Given the description of an element on the screen output the (x, y) to click on. 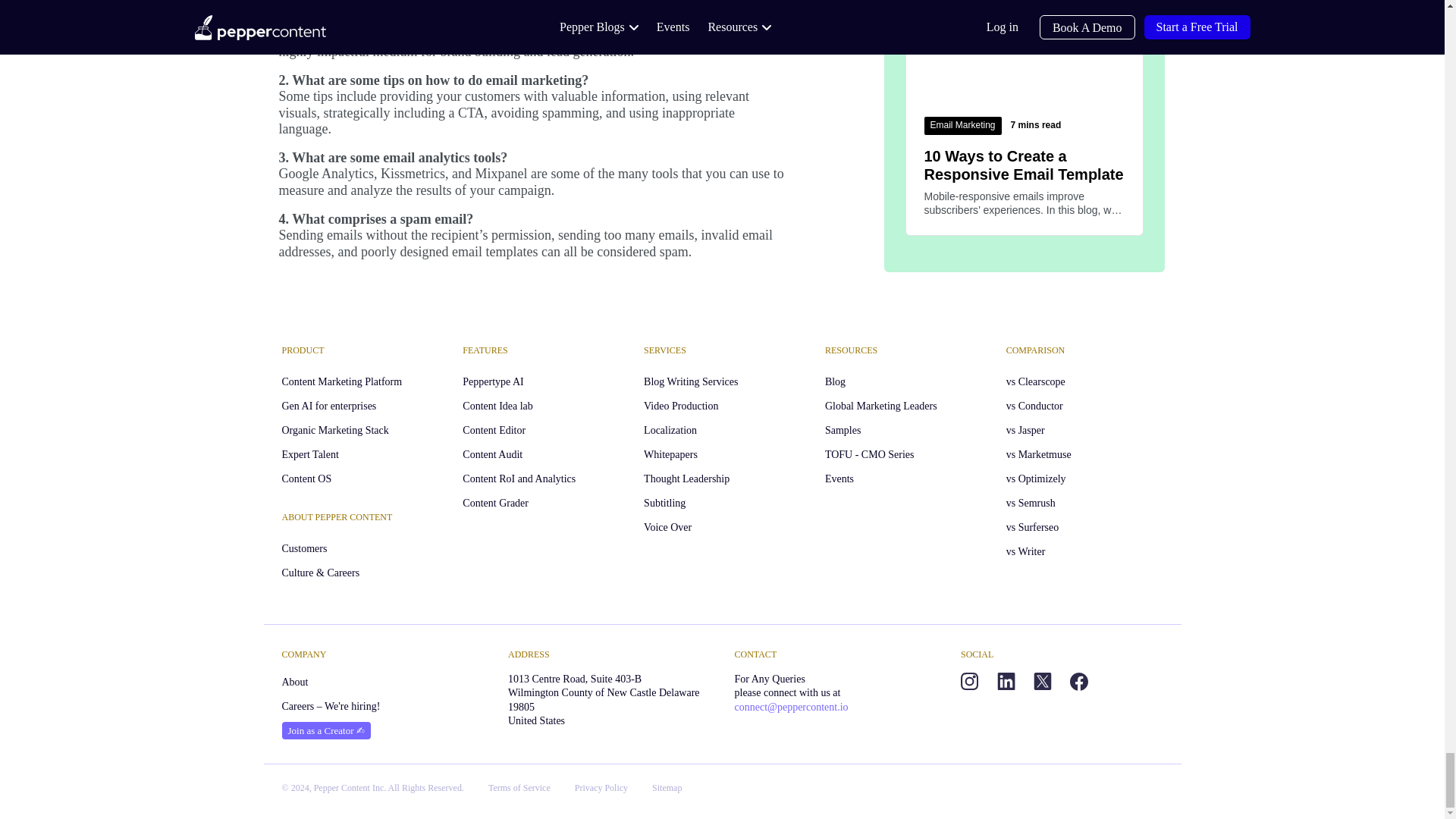
linkedin (1005, 681)
twitter (1042, 681)
facebook (1078, 681)
instagram (969, 681)
